Given the description of an element on the screen output the (x, y) to click on. 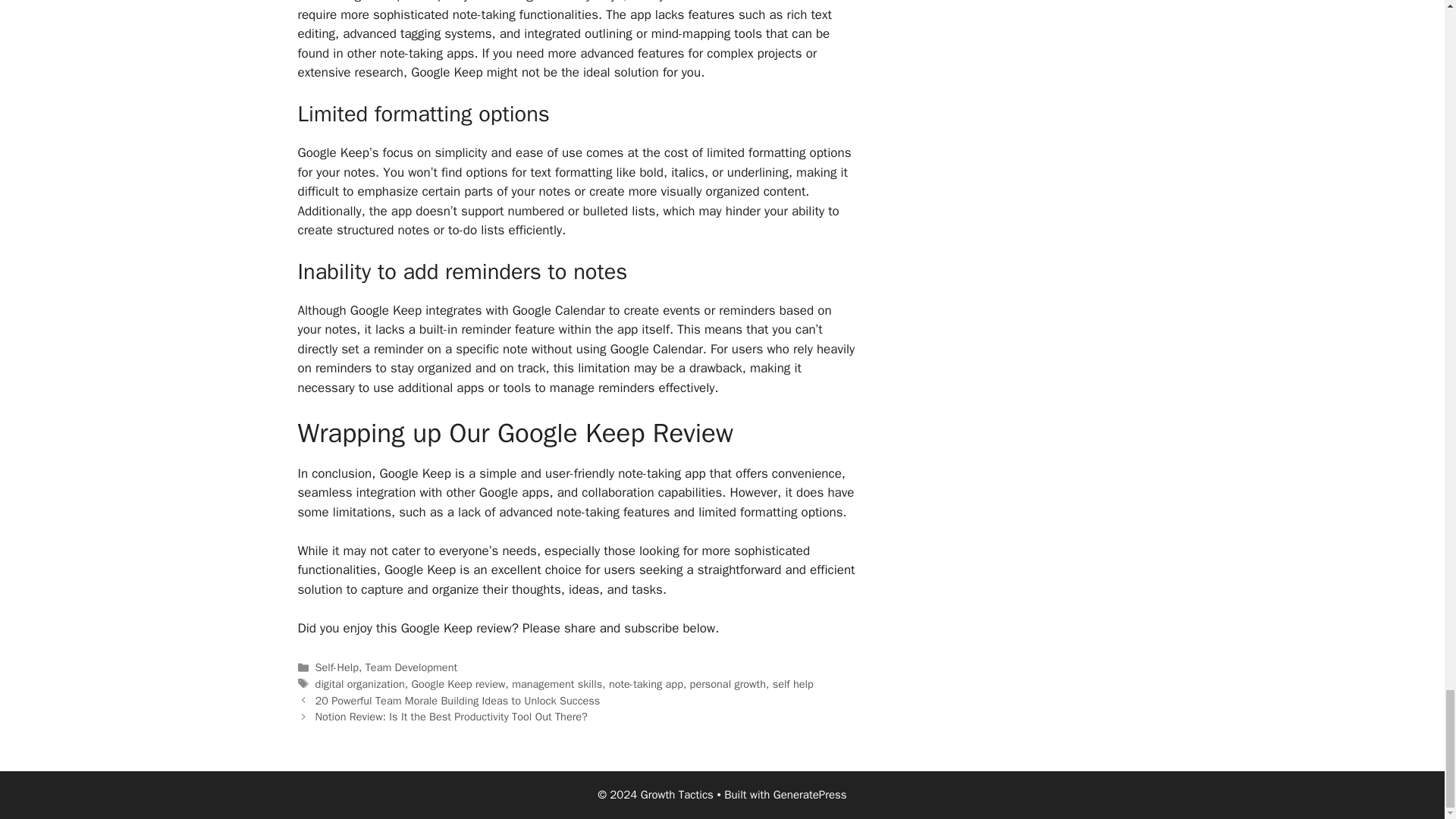
self help (793, 684)
note-taking app (645, 684)
20 Powerful Team Morale Building Ideas to Unlock Success (457, 700)
personal growth (727, 684)
digital organization (359, 684)
Google Keep review (457, 684)
Team Development (411, 667)
Self-Help (336, 667)
management skills (557, 684)
Notion Review: Is It the Best Productivity Tool Out There? (451, 716)
